Given the description of an element on the screen output the (x, y) to click on. 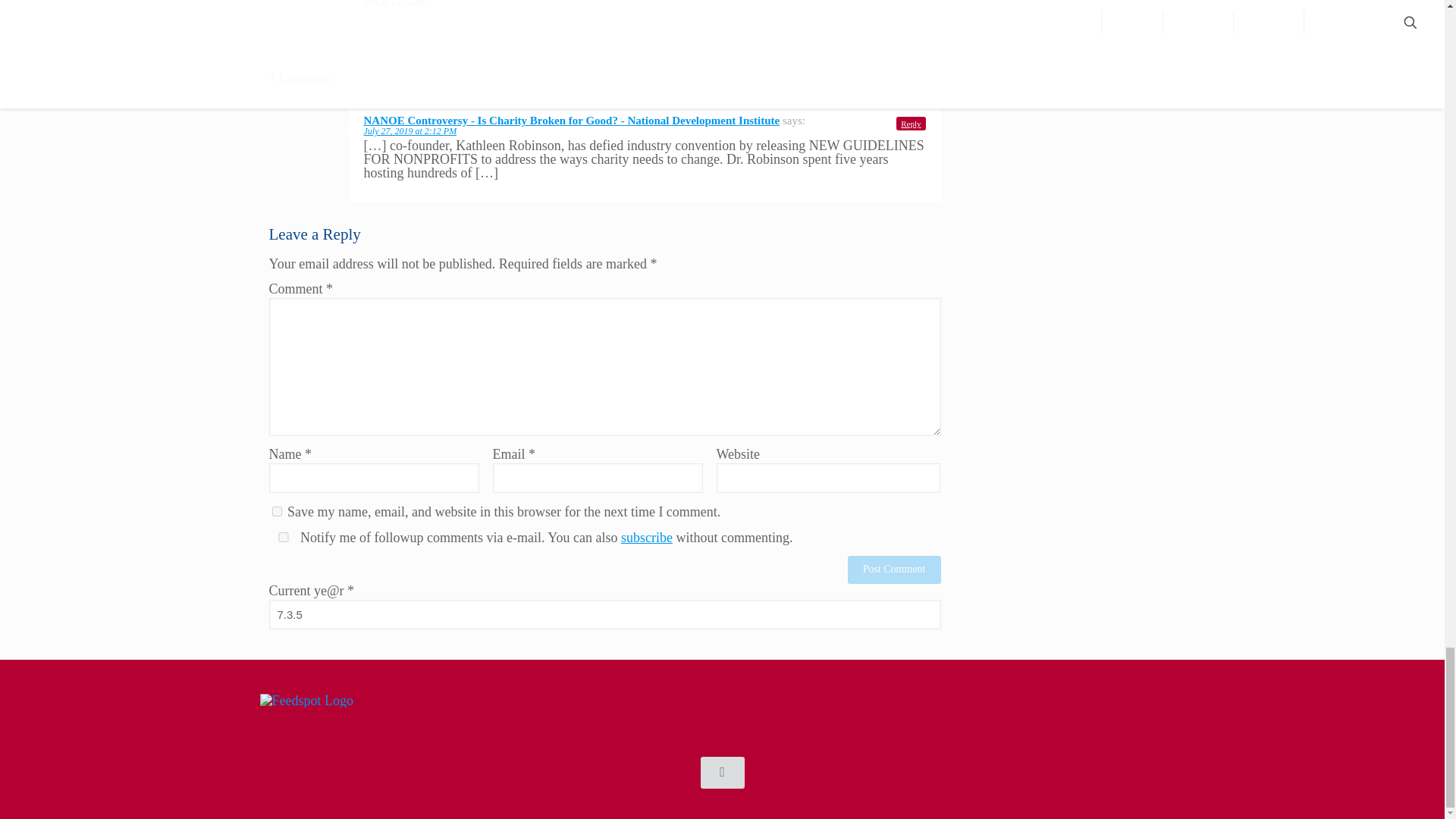
Reply (910, 123)
yes (275, 511)
Post Comment (893, 569)
July 27, 2019 at 2:12 PM (410, 131)
Jack Horak (394, 3)
7.3.5 (603, 614)
subscribe (646, 537)
Post Comment (893, 569)
yes (282, 537)
